Given the description of an element on the screen output the (x, y) to click on. 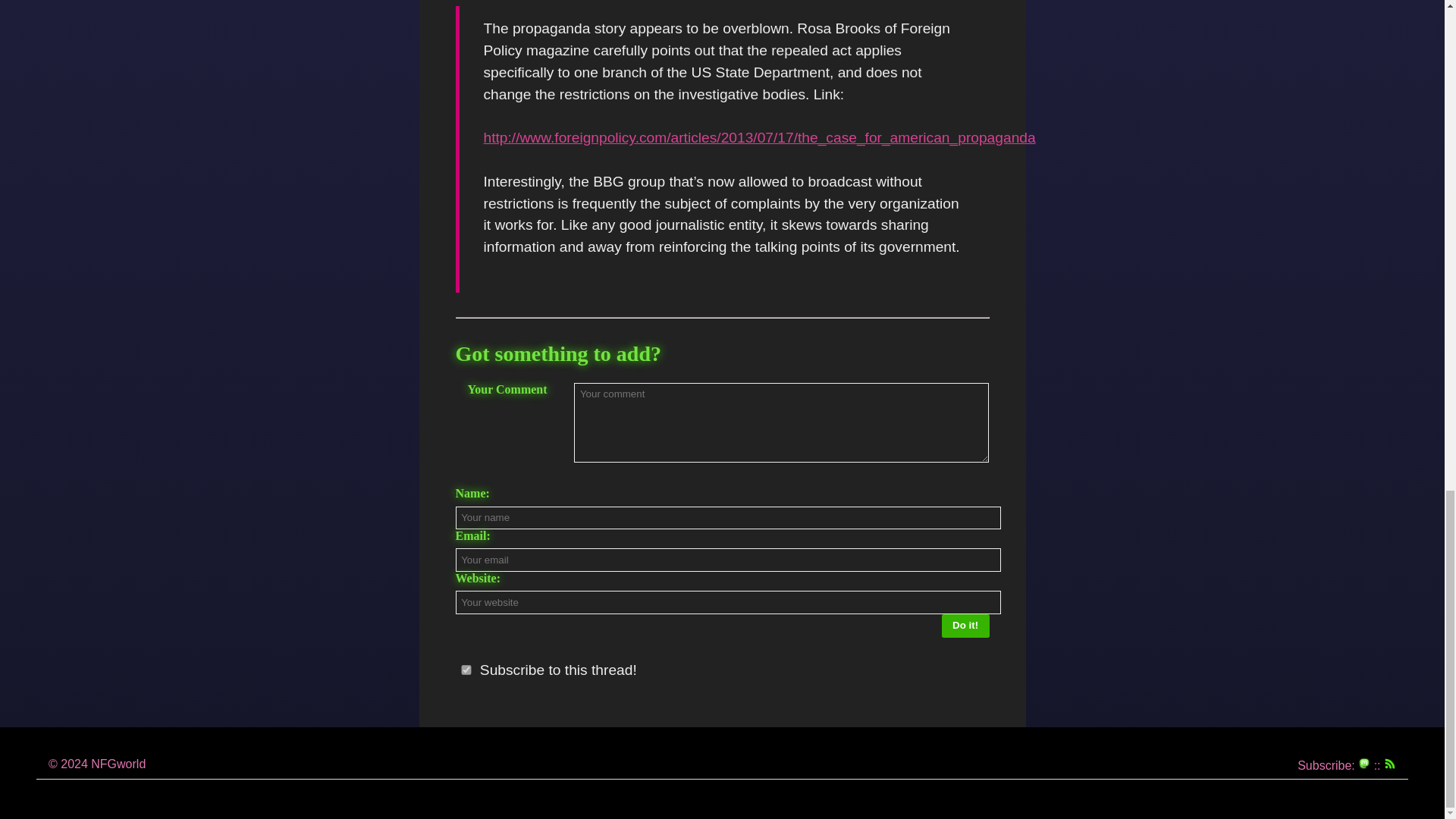
1 (465, 669)
Do it! (966, 626)
Do it! (966, 626)
